Given the description of an element on the screen output the (x, y) to click on. 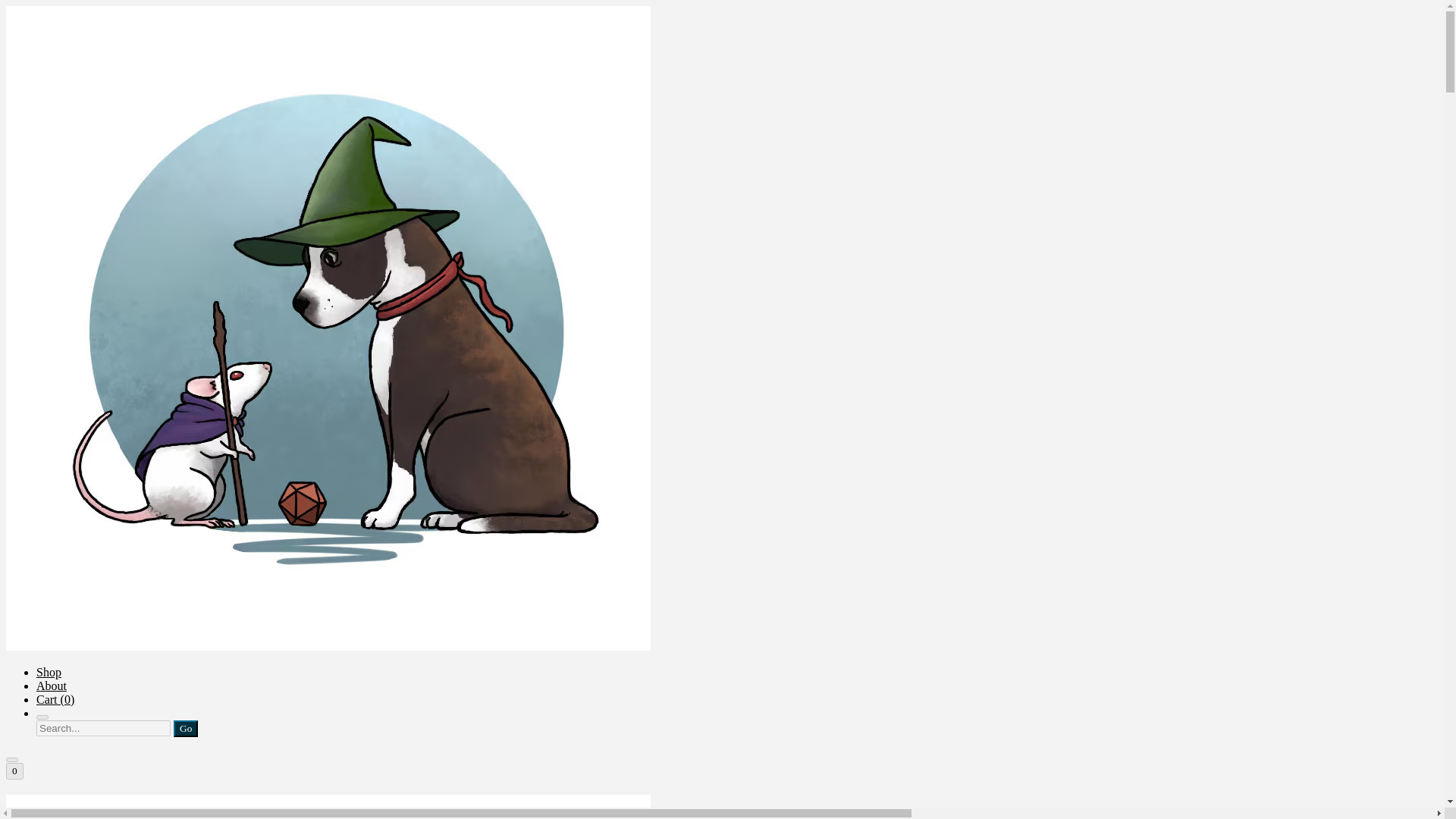
Home (721, 806)
Go (185, 728)
0 (14, 770)
About (51, 685)
Go (185, 728)
Shop (48, 671)
